Given the description of an element on the screen output the (x, y) to click on. 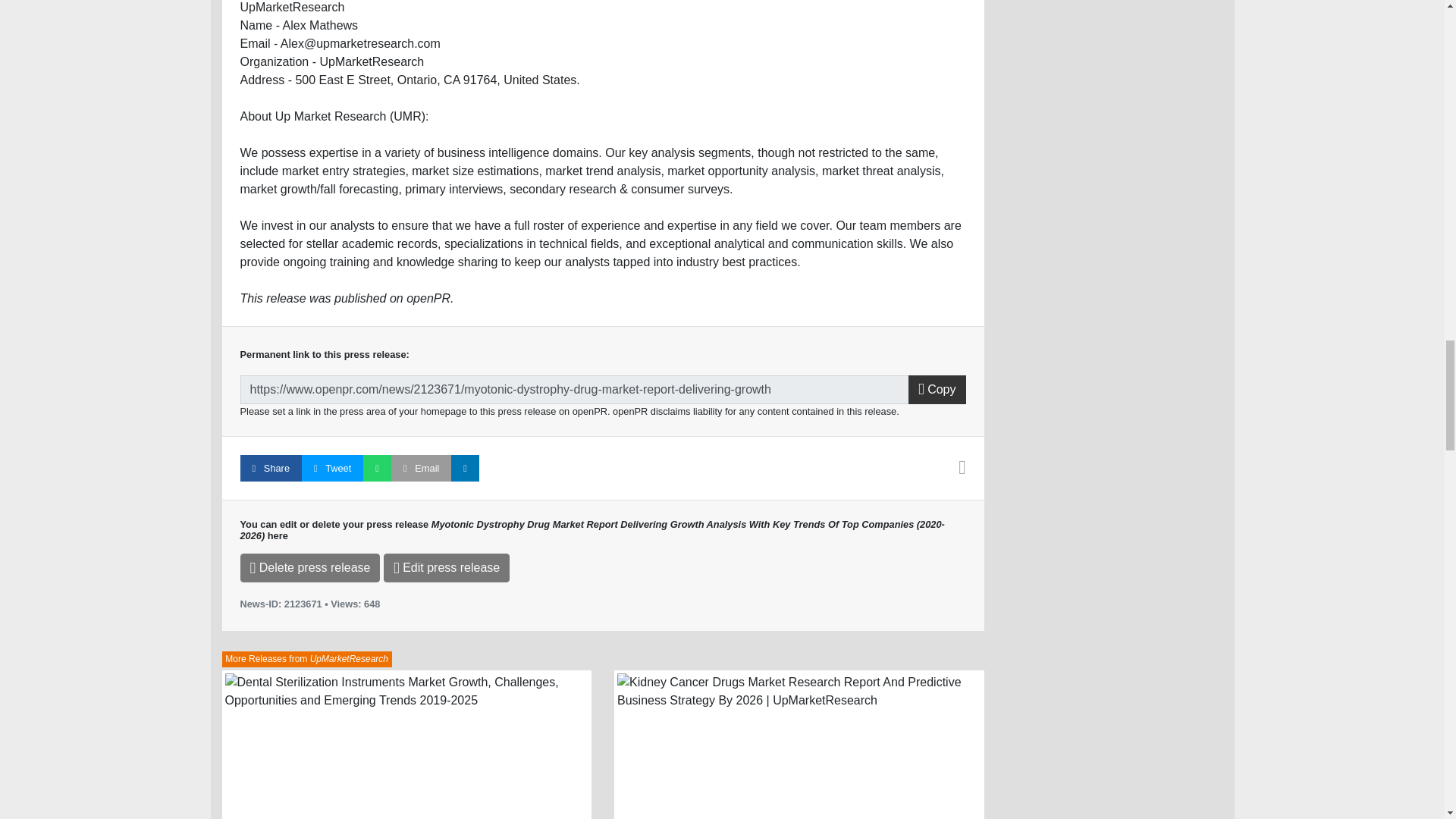
WhatsApp (376, 468)
Facebook (270, 468)
LinkedIn (465, 468)
Email (421, 468)
Permalink (574, 389)
